Given the description of an element on the screen output the (x, y) to click on. 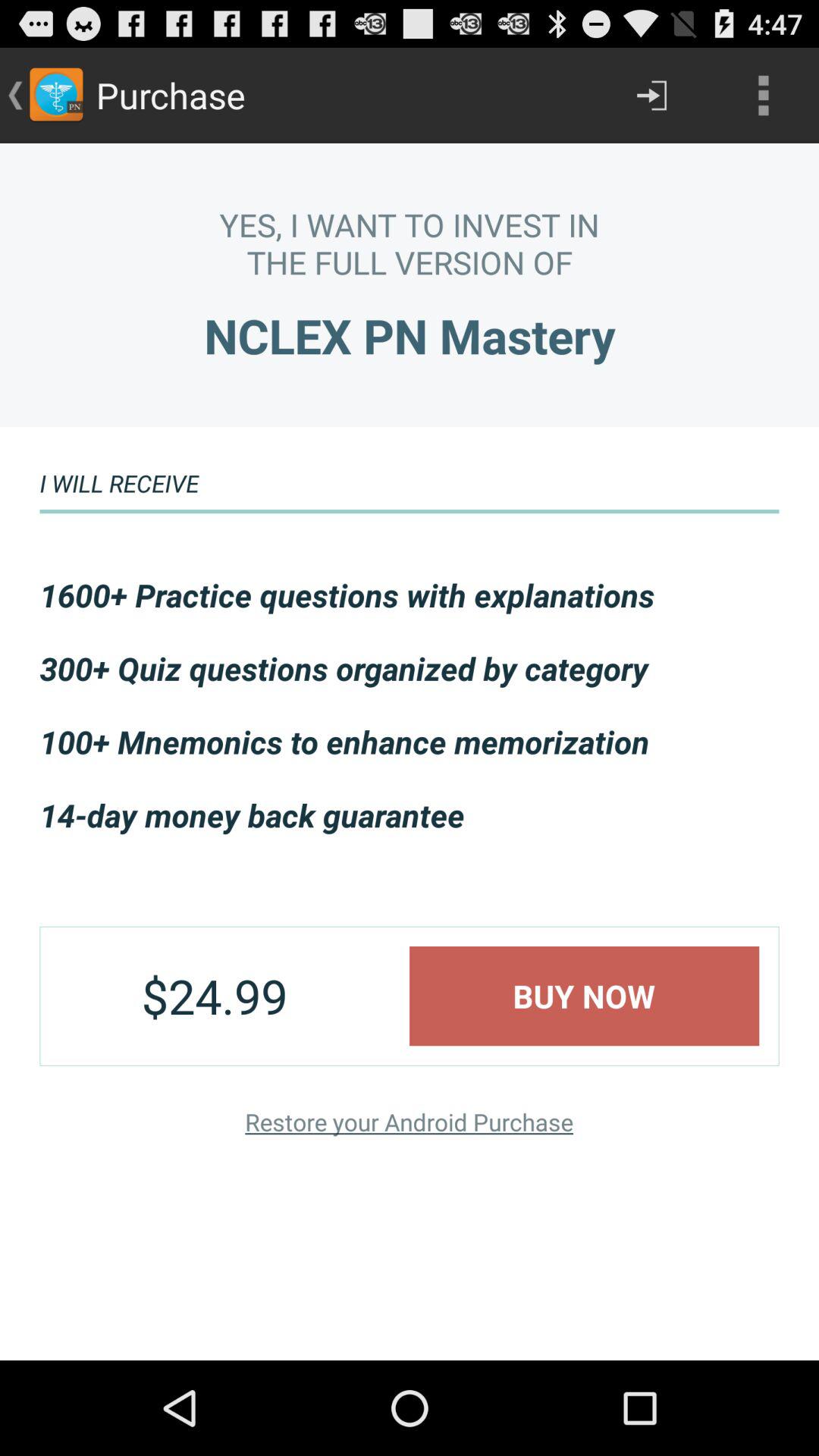
flip to the restore your android icon (409, 1121)
